Given the description of an element on the screen output the (x, y) to click on. 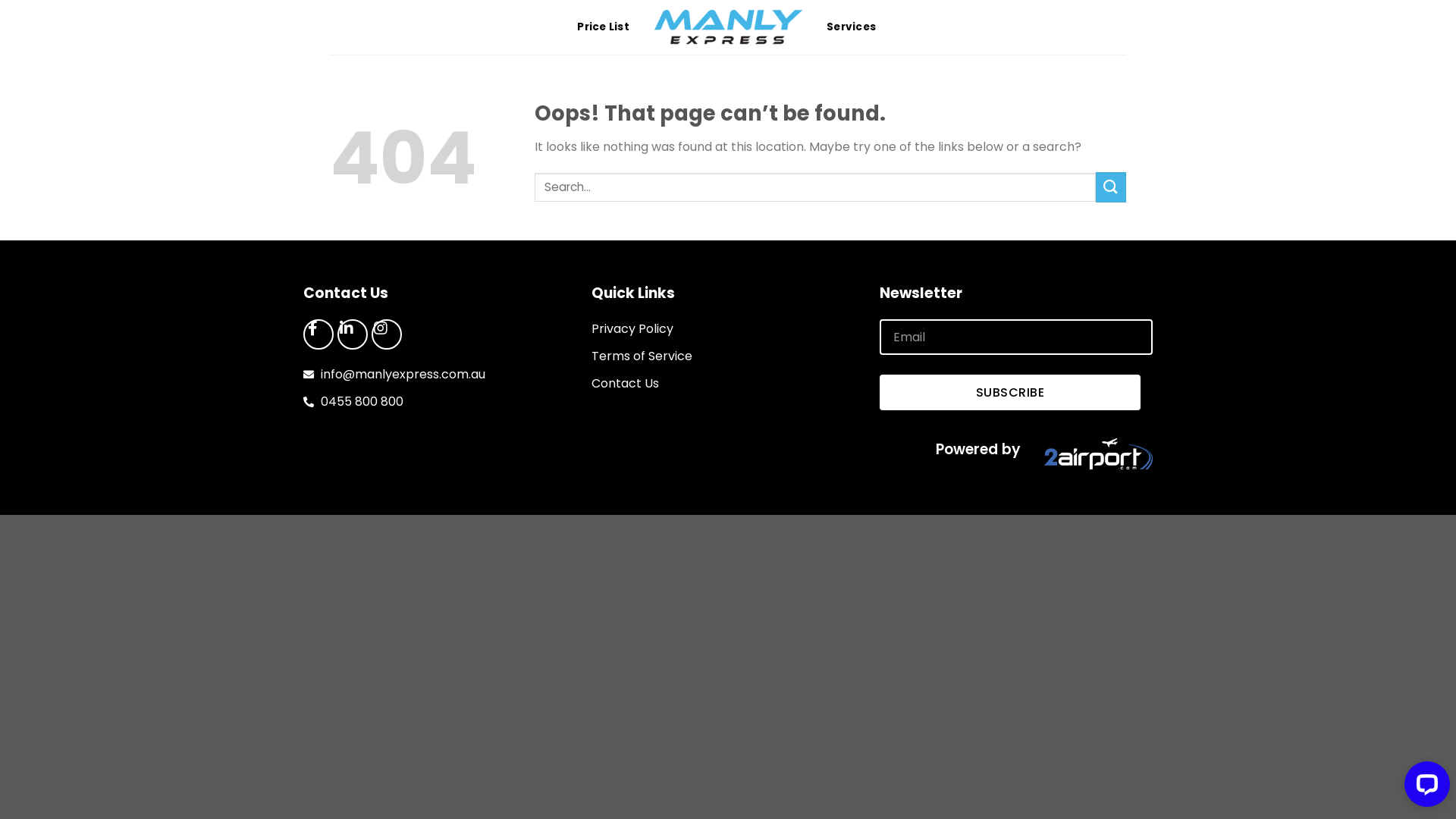
Privacy Policy Element type: text (727, 328)
Price List Element type: text (603, 27)
0455 800 800 Element type: text (439, 401)
SUBSCRIBE Element type: text (1009, 392)
Manly Express Element type: hover (727, 27)
Contact Us Element type: text (727, 383)
Terms of Service Element type: text (727, 356)
Services Element type: text (850, 27)
info@manlyexpress.com.au Element type: text (439, 374)
